Given the description of an element on the screen output the (x, y) to click on. 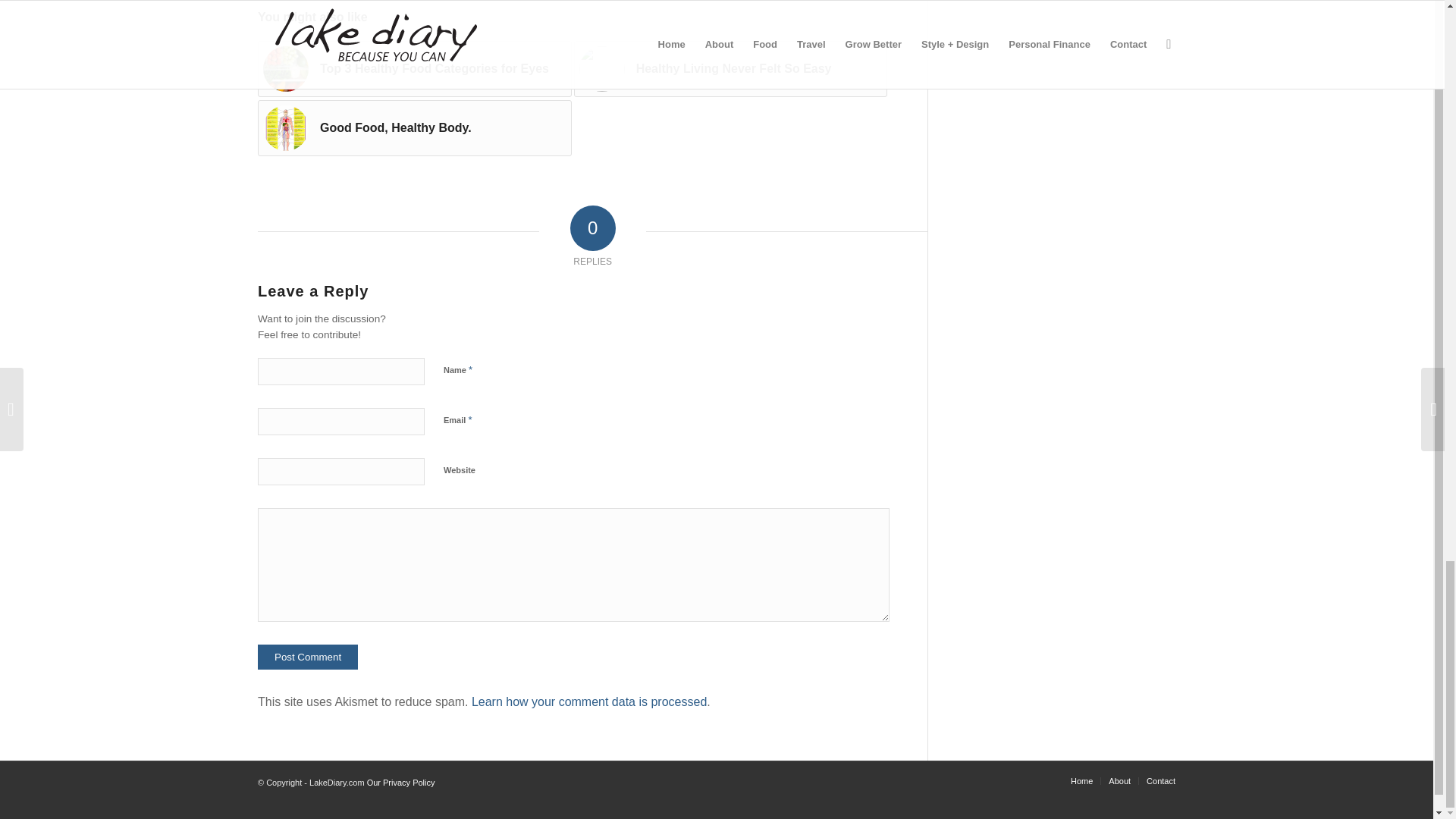
Post Comment (307, 656)
